Given the description of an element on the screen output the (x, y) to click on. 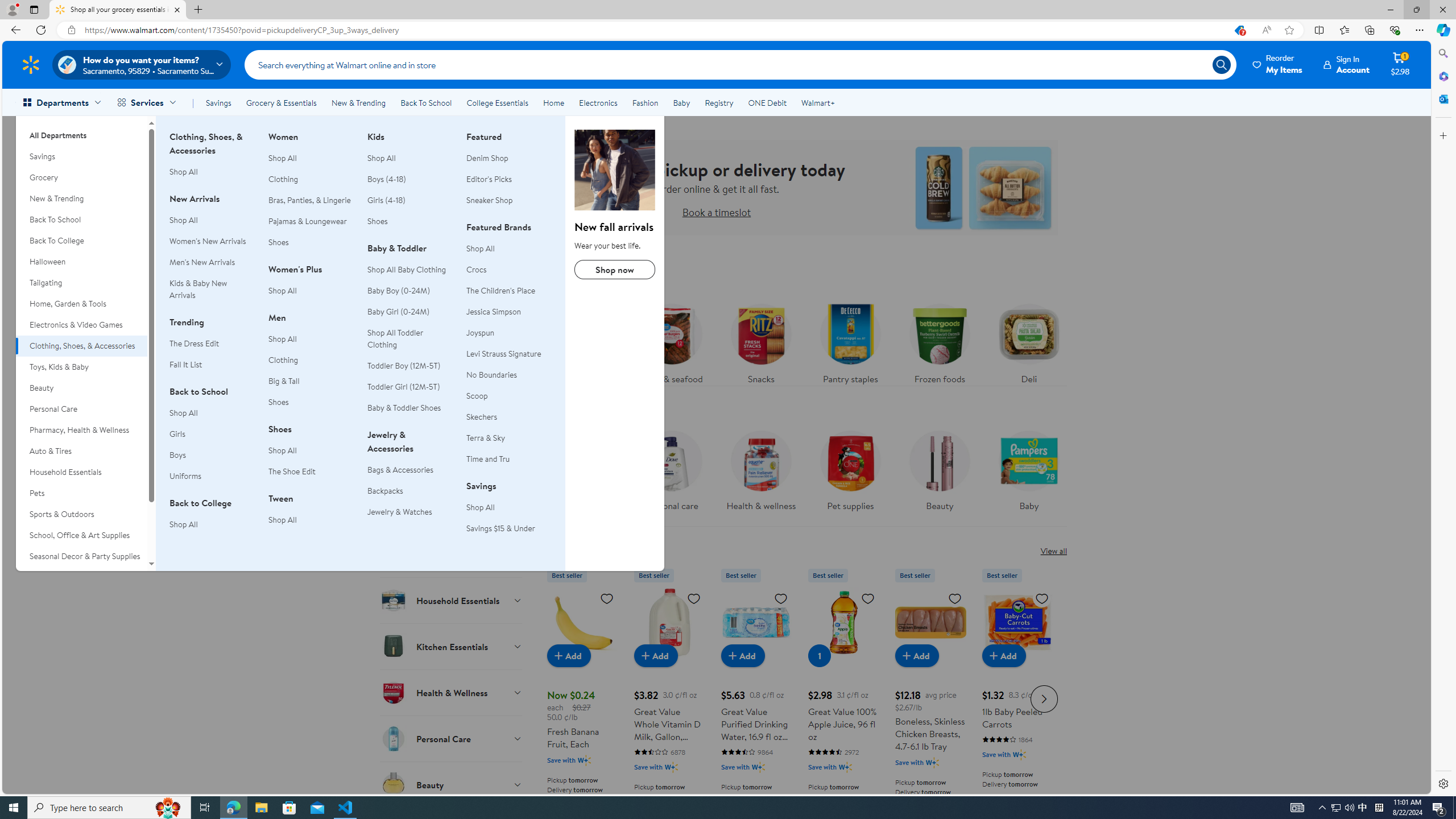
TrendingThe Dress EditFall It List (211, 349)
Baby & Toddler Shoes (403, 407)
View all (1053, 550)
College Essentials (496, 102)
Backpacks (409, 490)
Crocs (475, 269)
Jessica Simpson (508, 311)
Savings (217, 102)
Boys (4-18) (409, 179)
Clothing, Shoes, & Accessories (81, 345)
Sign in to add to Favorites list, Fresh Banana Fruit, Each (606, 597)
KidsShop AllBoys (4-18)Girls (4-18)Shoes (409, 184)
